Given the description of an element on the screen output the (x, y) to click on. 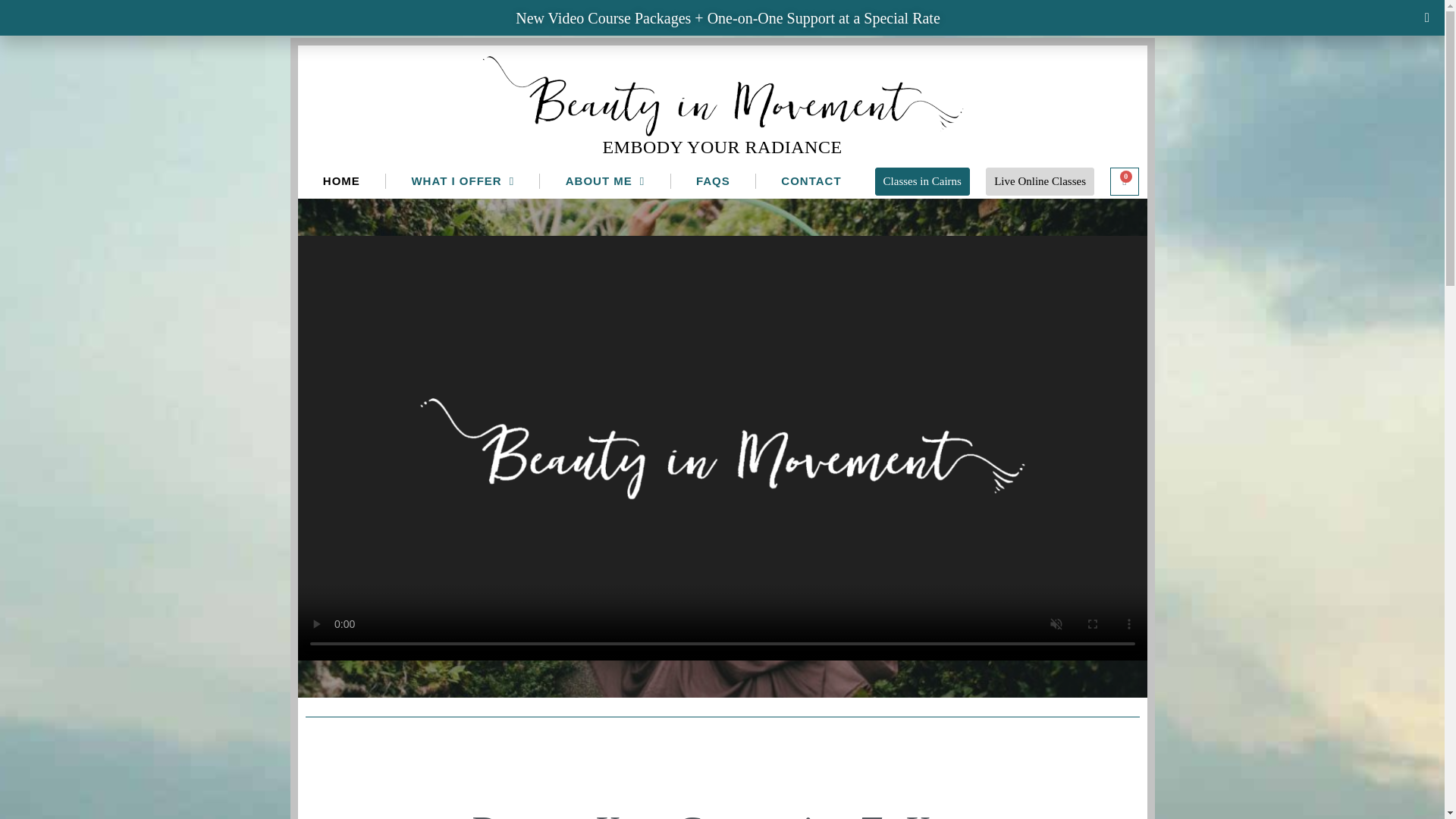
Classes in Cairns (922, 180)
FAQS (713, 181)
CONTACT (810, 181)
WHAT I OFFER (461, 181)
0 (1123, 180)
Live Online Classes (1040, 181)
ABOUT ME (604, 181)
HOME (341, 181)
